Given the description of an element on the screen output the (x, y) to click on. 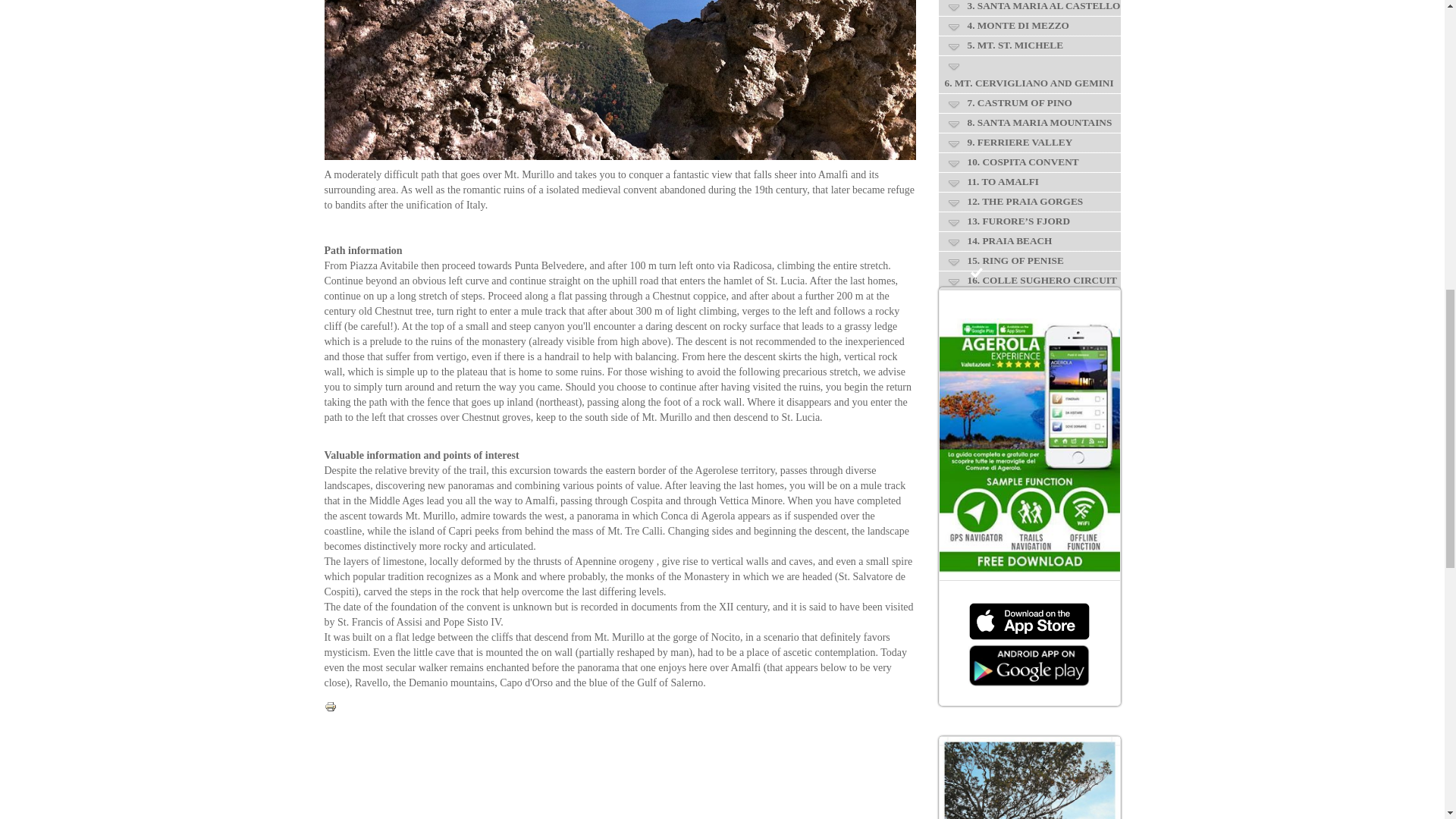
Print (330, 705)
